Given the description of an element on the screen output the (x, y) to click on. 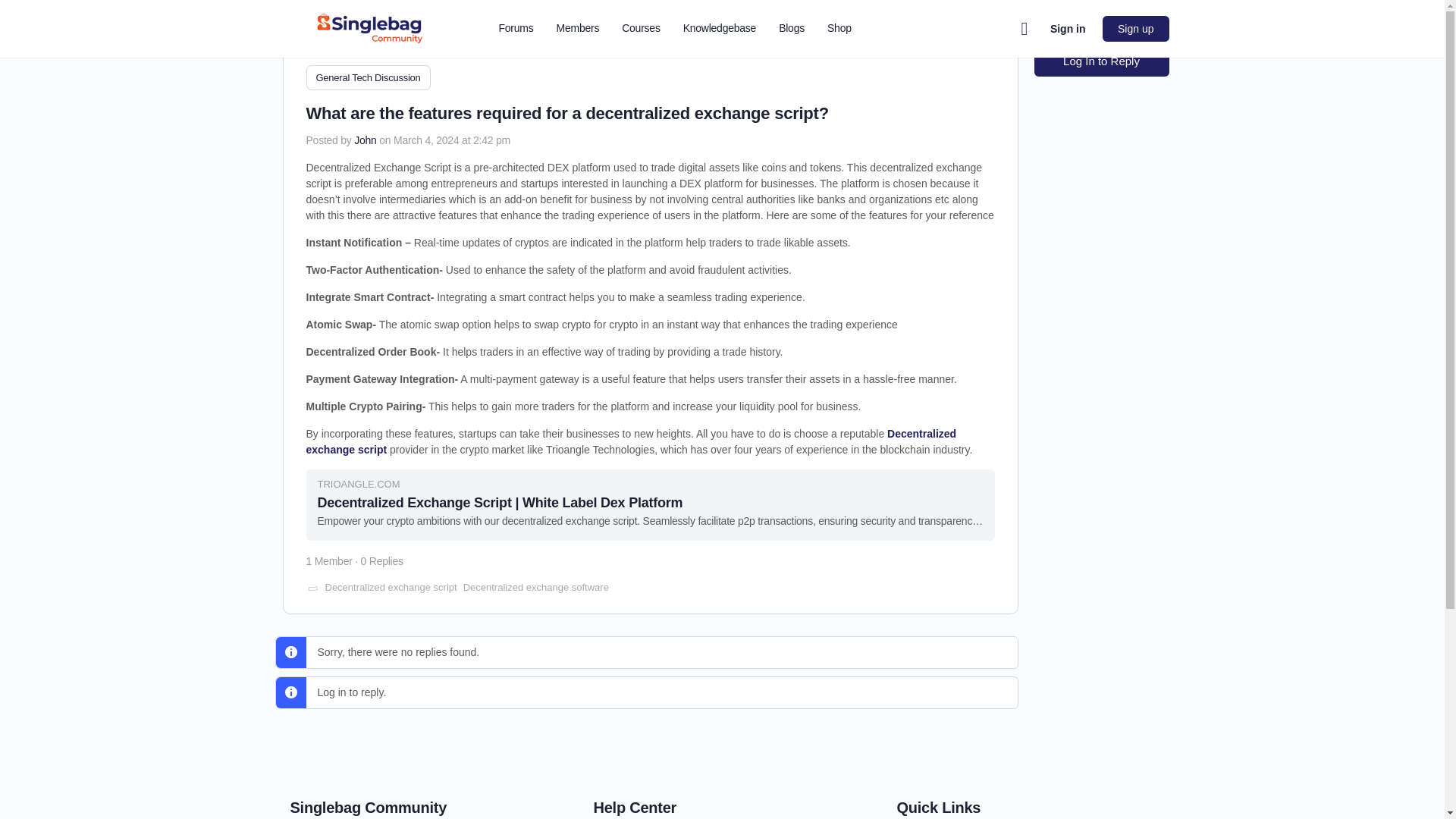
Decentralized exchange script (390, 586)
Members (577, 28)
John (364, 140)
Knowledgebase (719, 28)
Decentralized exchange software (535, 586)
View John's profile (364, 140)
Sign in (1067, 28)
Shop (839, 28)
Courses (640, 28)
Decentralized exchange script (630, 441)
Forums (516, 28)
Blogs (791, 28)
Sign up (1135, 28)
General Tech Discussion (367, 77)
